Given the description of an element on the screen output the (x, y) to click on. 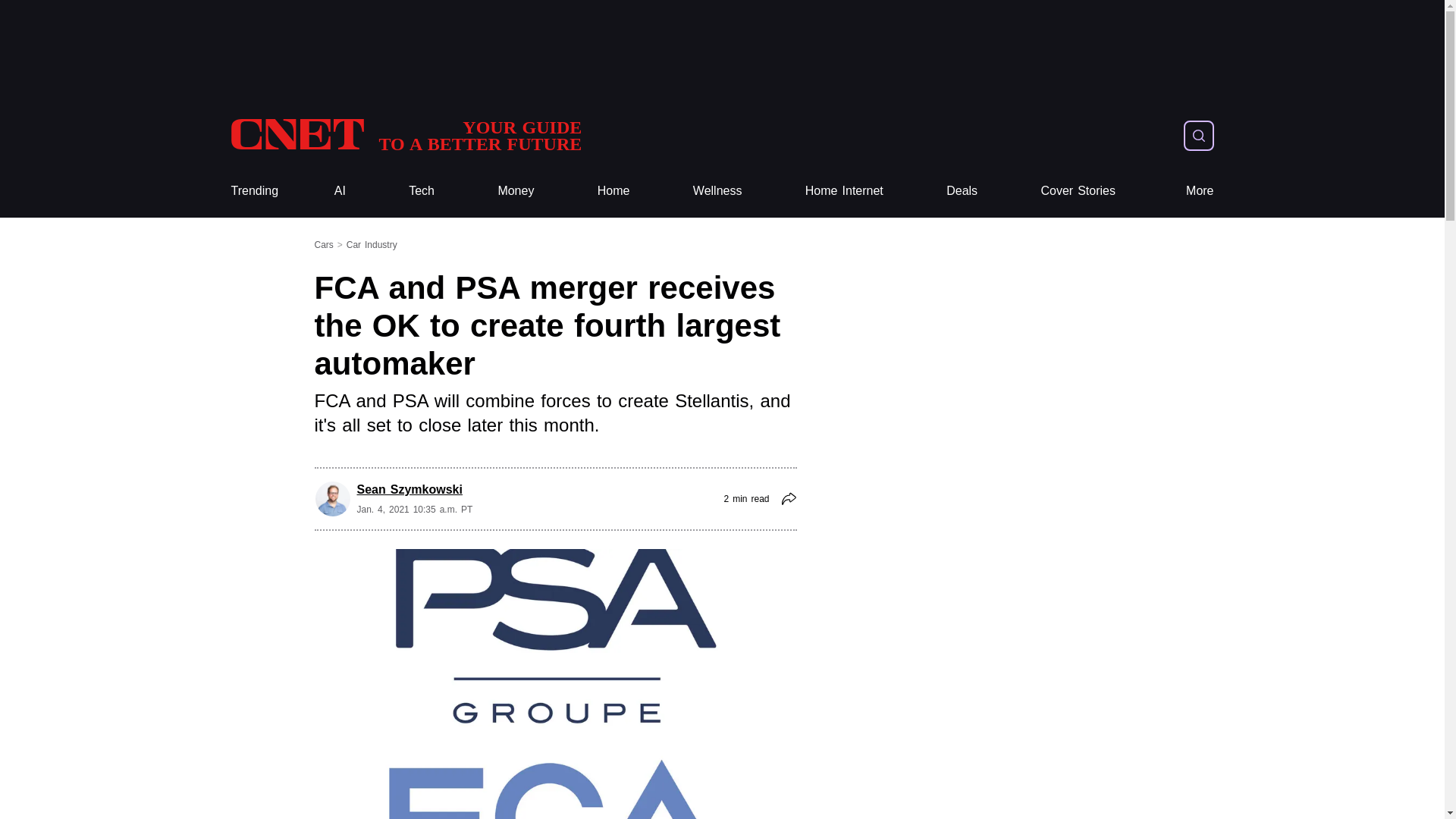
Home Internet (405, 135)
Home (844, 190)
Trending (613, 190)
Trending (254, 190)
CNET (254, 190)
More (405, 135)
Money (1199, 190)
Wellness (515, 190)
Cover Stories (717, 190)
Deals (1078, 190)
Money (961, 190)
Wellness (515, 190)
Tech (717, 190)
Home Internet (421, 190)
